Given the description of an element on the screen output the (x, y) to click on. 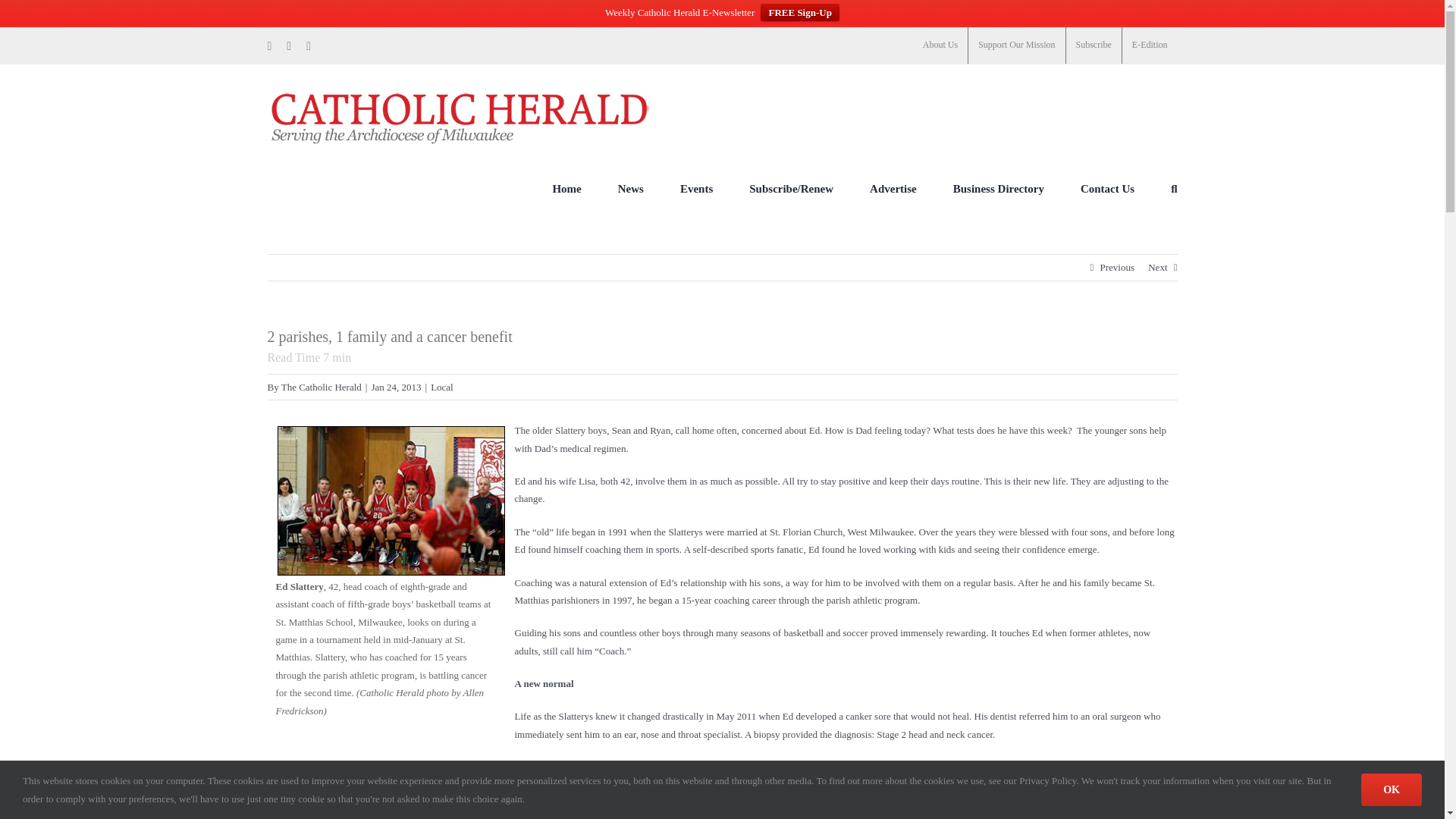
FREE Sign-Up (799, 12)
Contact Us (1107, 188)
Business Directory (998, 188)
Advertise (893, 188)
About Us (940, 45)
Support Our Mission (1016, 45)
Subscribe (1093, 45)
Posts by The Catholic Herald (321, 387)
E-Edition (1149, 45)
